Given the description of an element on the screen output the (x, y) to click on. 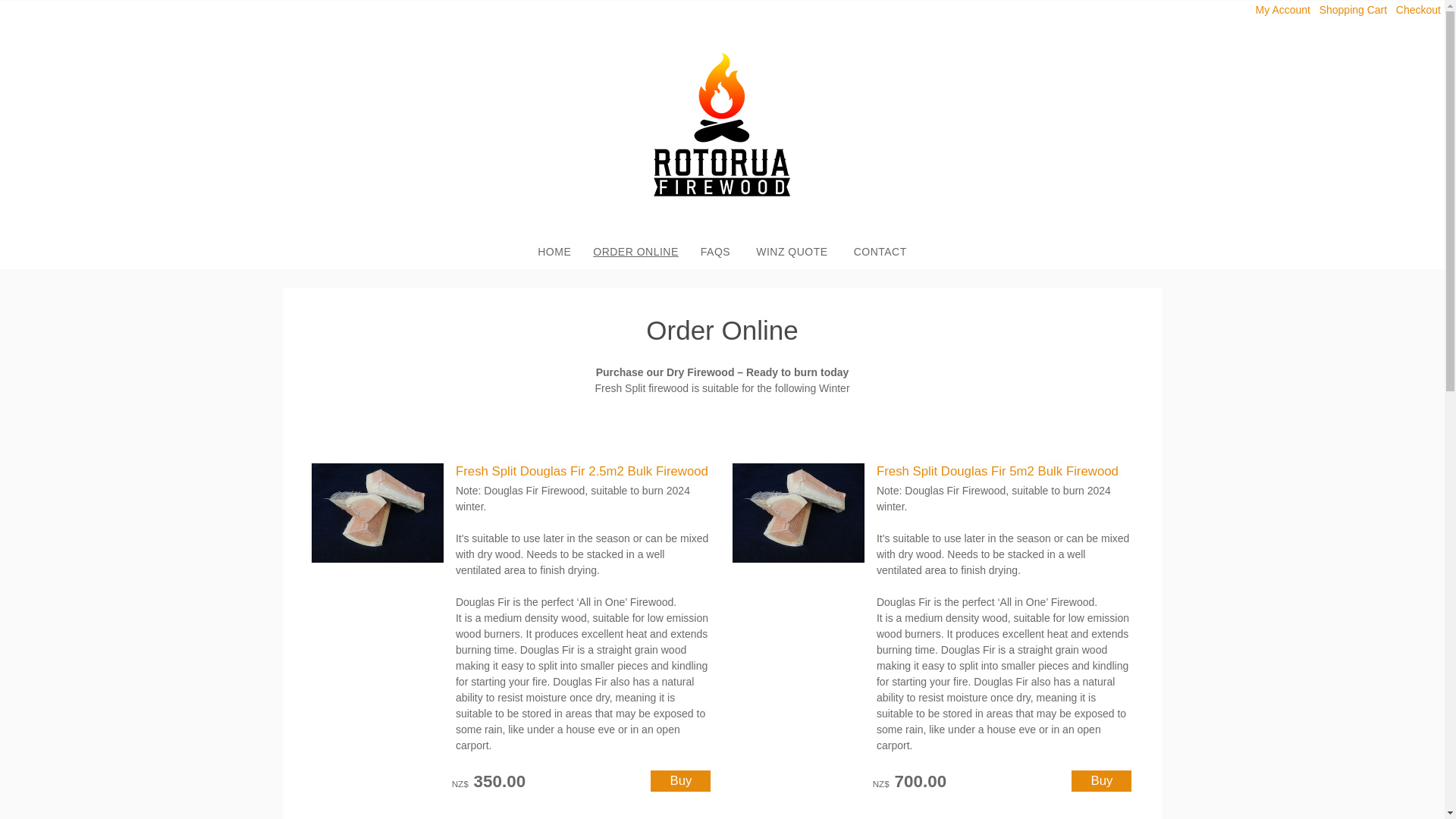
Fresh Split Douglas Fir 5m2 Bulk Firewood (997, 471)
My Account (1282, 9)
Buy (680, 780)
Checkout (1418, 9)
Checkout (1418, 9)
My Account (1282, 9)
WINZ QUOTE (790, 252)
Shopping Cart (1354, 9)
Shopping Cart (1354, 9)
ORDER ONLINE (635, 252)
FAQS (715, 252)
HOME (553, 252)
CONTACT (879, 252)
Buy (1101, 780)
Fresh Split Douglas Fir 2.5m2 Bulk Firewood (581, 471)
